Given the description of an element on the screen output the (x, y) to click on. 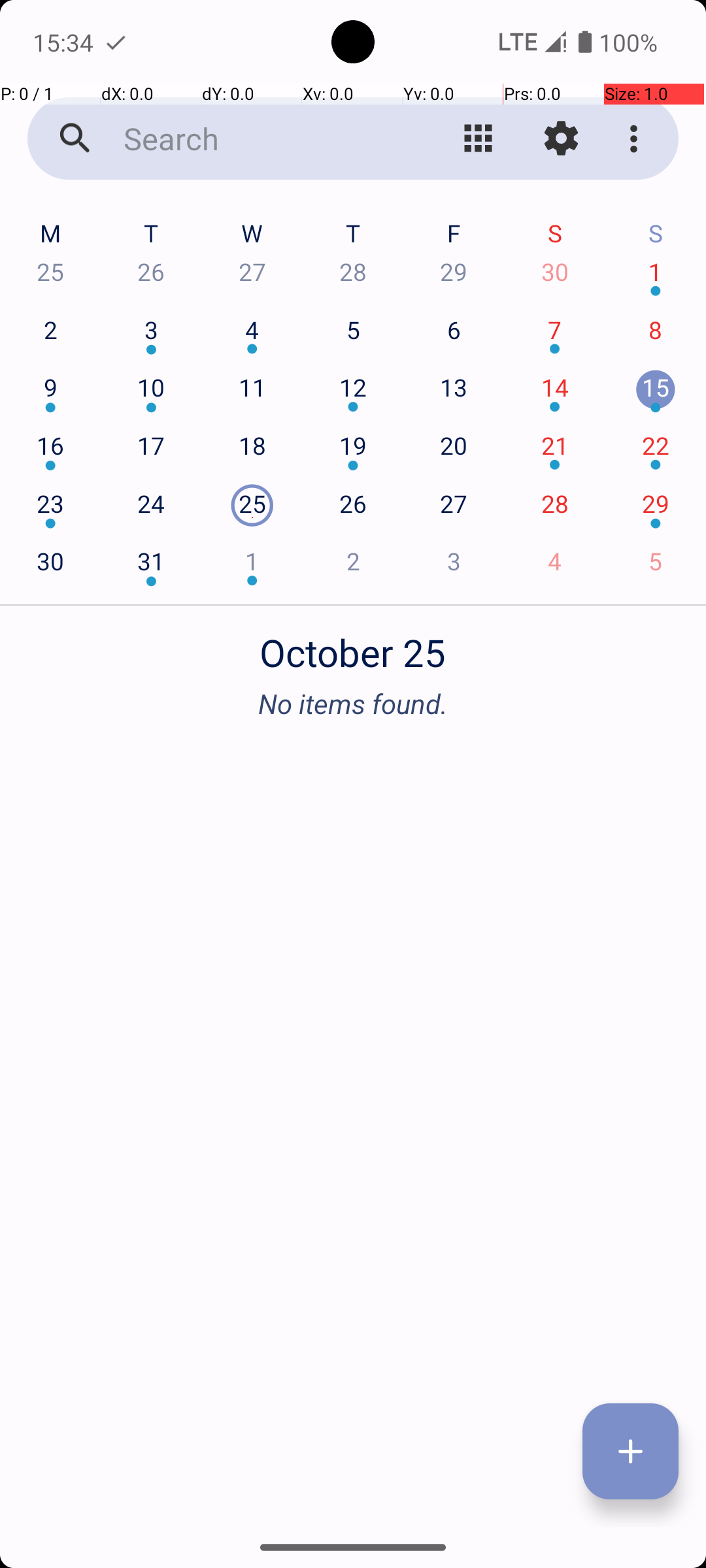
October 25 Element type: android.widget.TextView (352, 644)
